Given the description of an element on the screen output the (x, y) to click on. 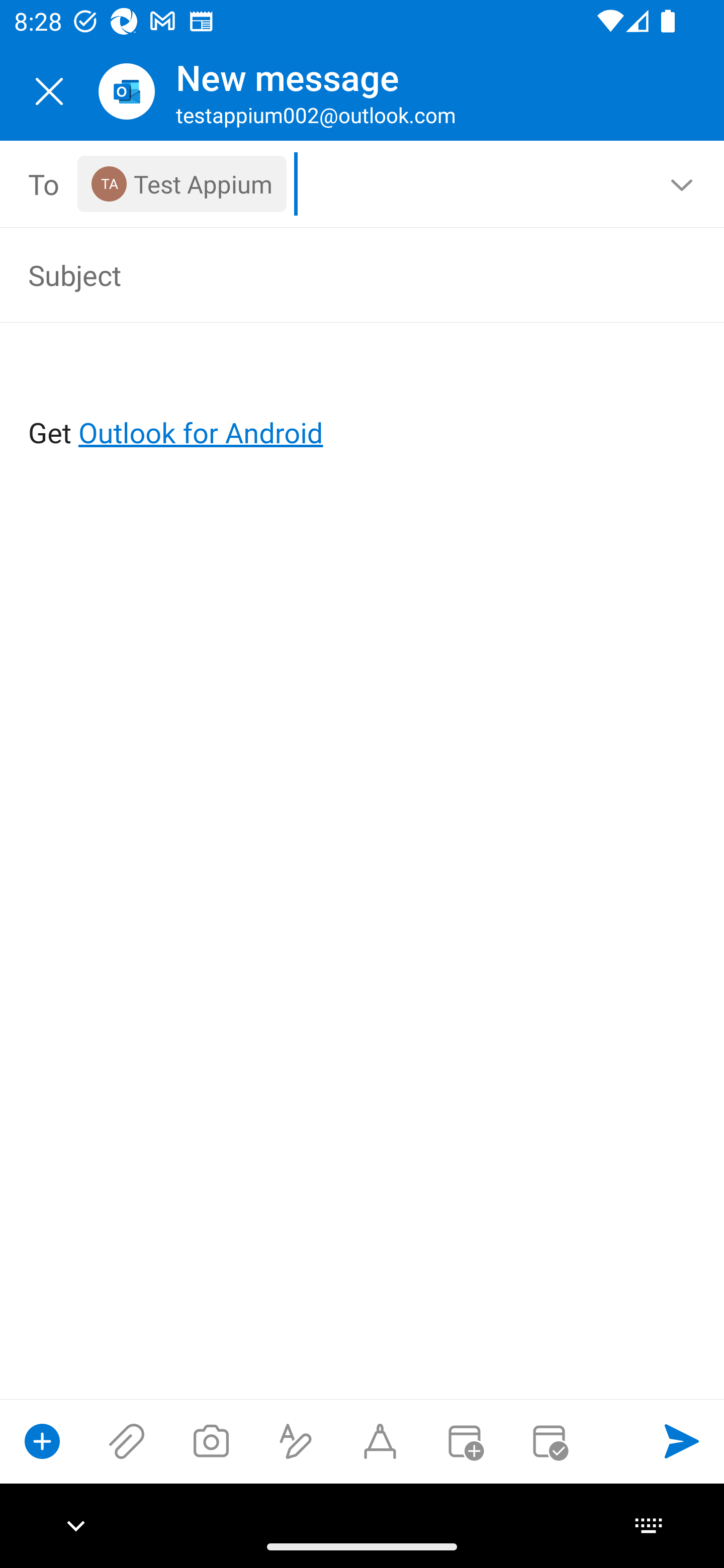
Close (49, 91)
Subject (333, 274)


Get Outlook for Android (363, 400)
Show compose options (42, 1440)
Attach files (126, 1440)
Take a photo (210, 1440)
Show formatting options (295, 1440)
Start Ink compose (380, 1440)
Convert to event (464, 1440)
Send availability (548, 1440)
Send (681, 1440)
